Given the description of an element on the screen output the (x, y) to click on. 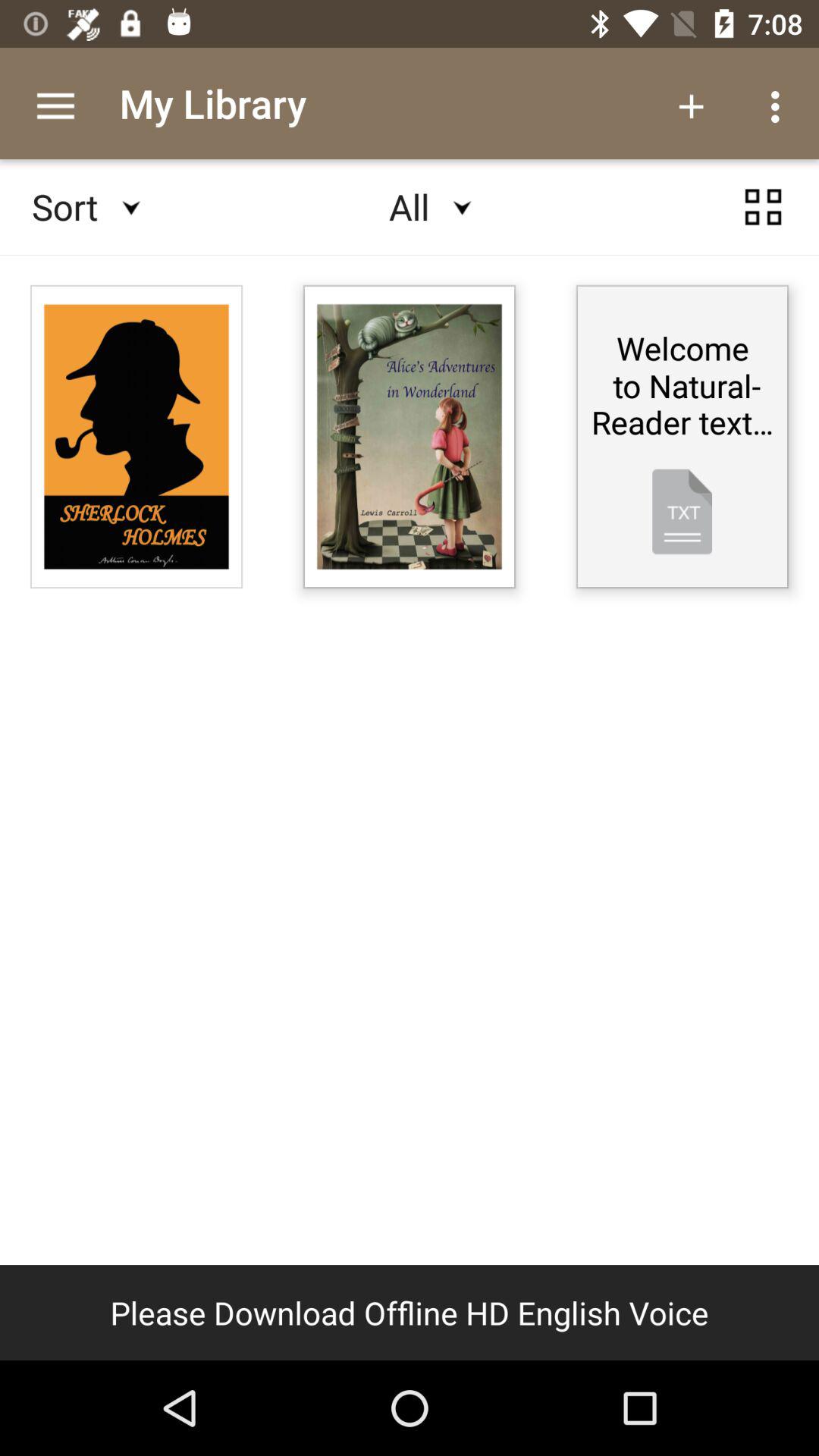
click to menu (763, 206)
